Given the description of an element on the screen output the (x, y) to click on. 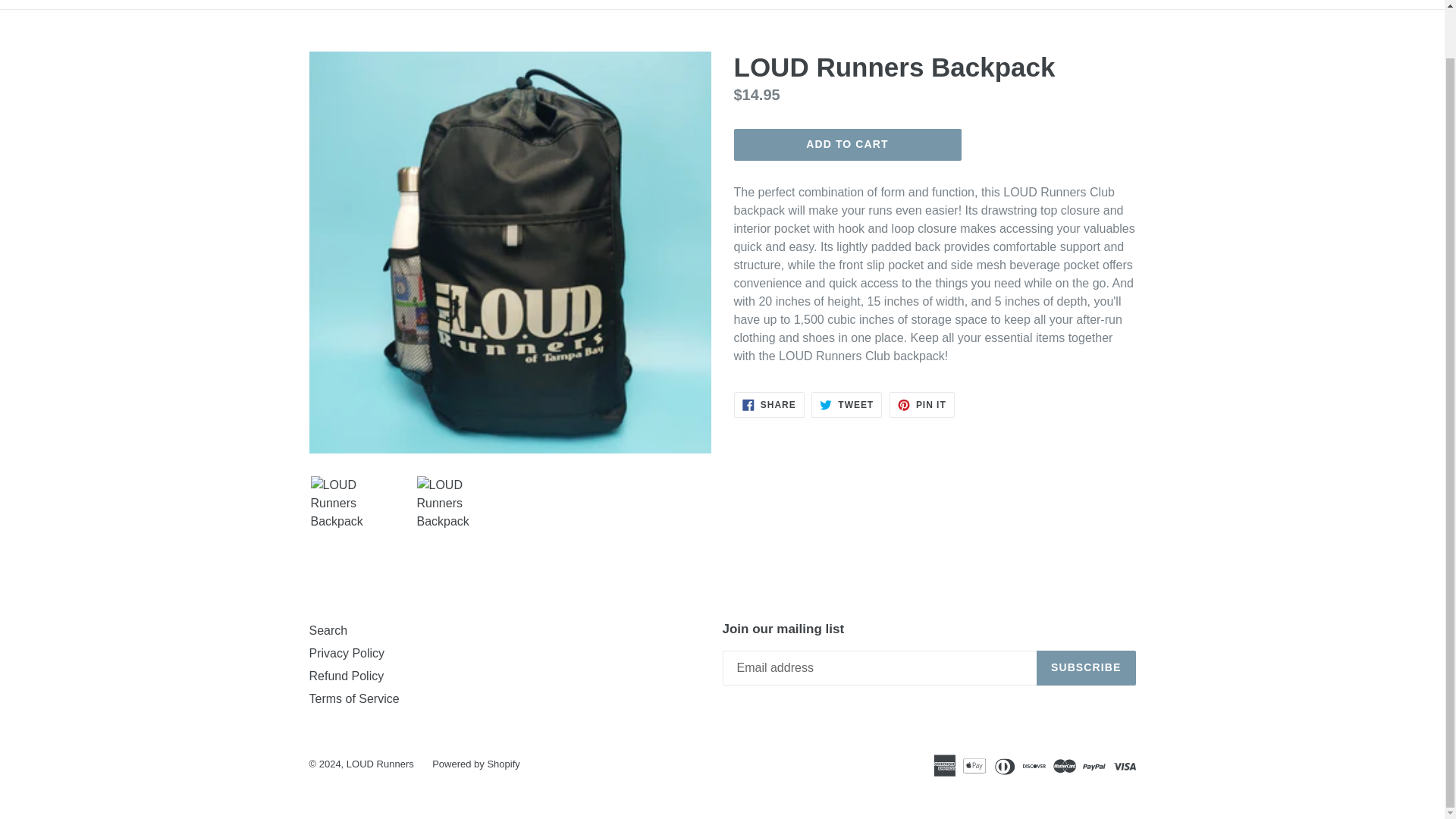
ADD TO CART (922, 404)
Pin on Pinterest (846, 144)
Search (769, 404)
Share on Facebook (846, 404)
Tweet on Twitter (922, 404)
Privacy Policy (327, 630)
